Given the description of an element on the screen output the (x, y) to click on. 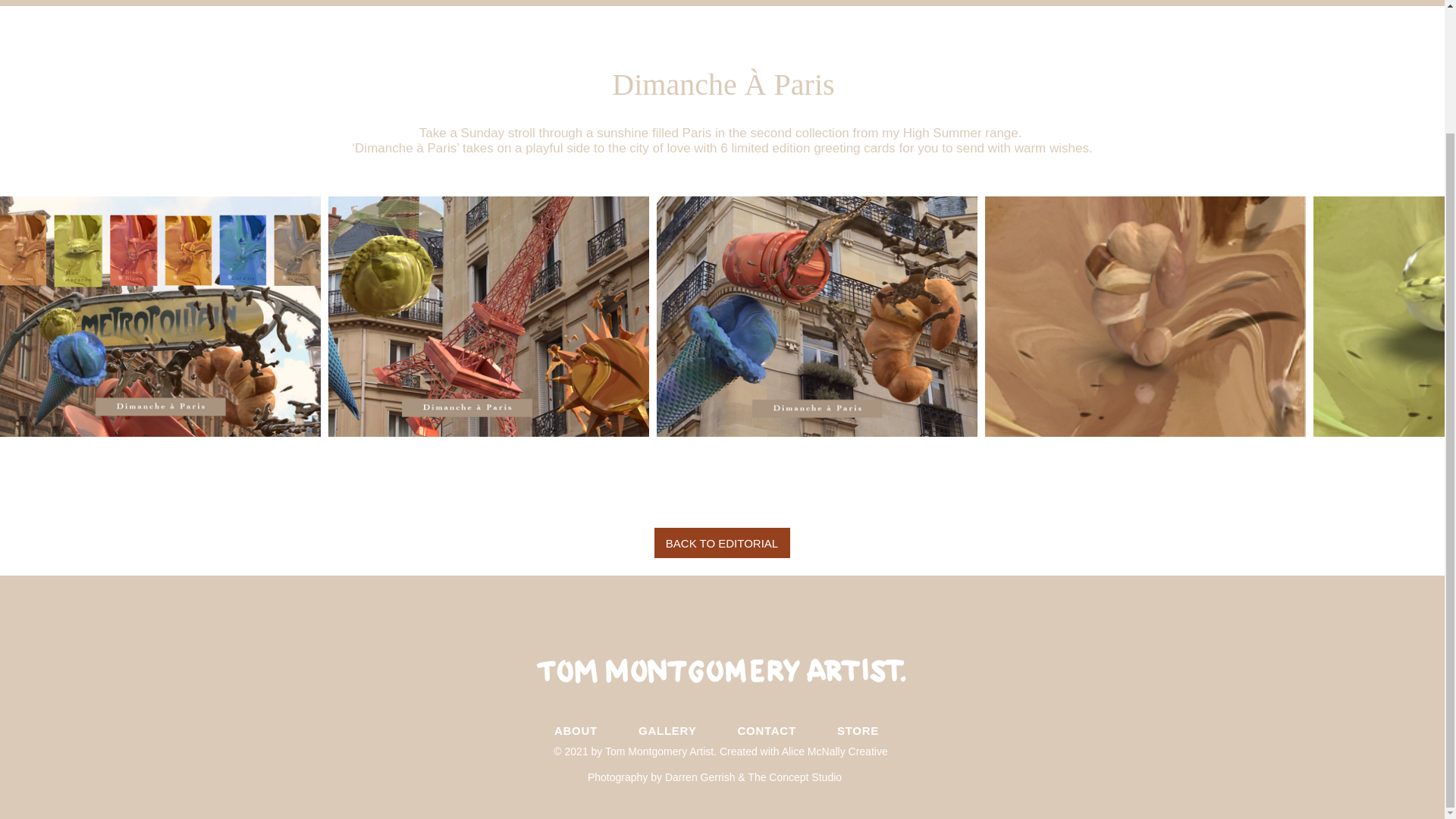
CONTACT (765, 730)
STORE (857, 730)
BACK TO EDITORIAL (721, 542)
